Given the description of an element on the screen output the (x, y) to click on. 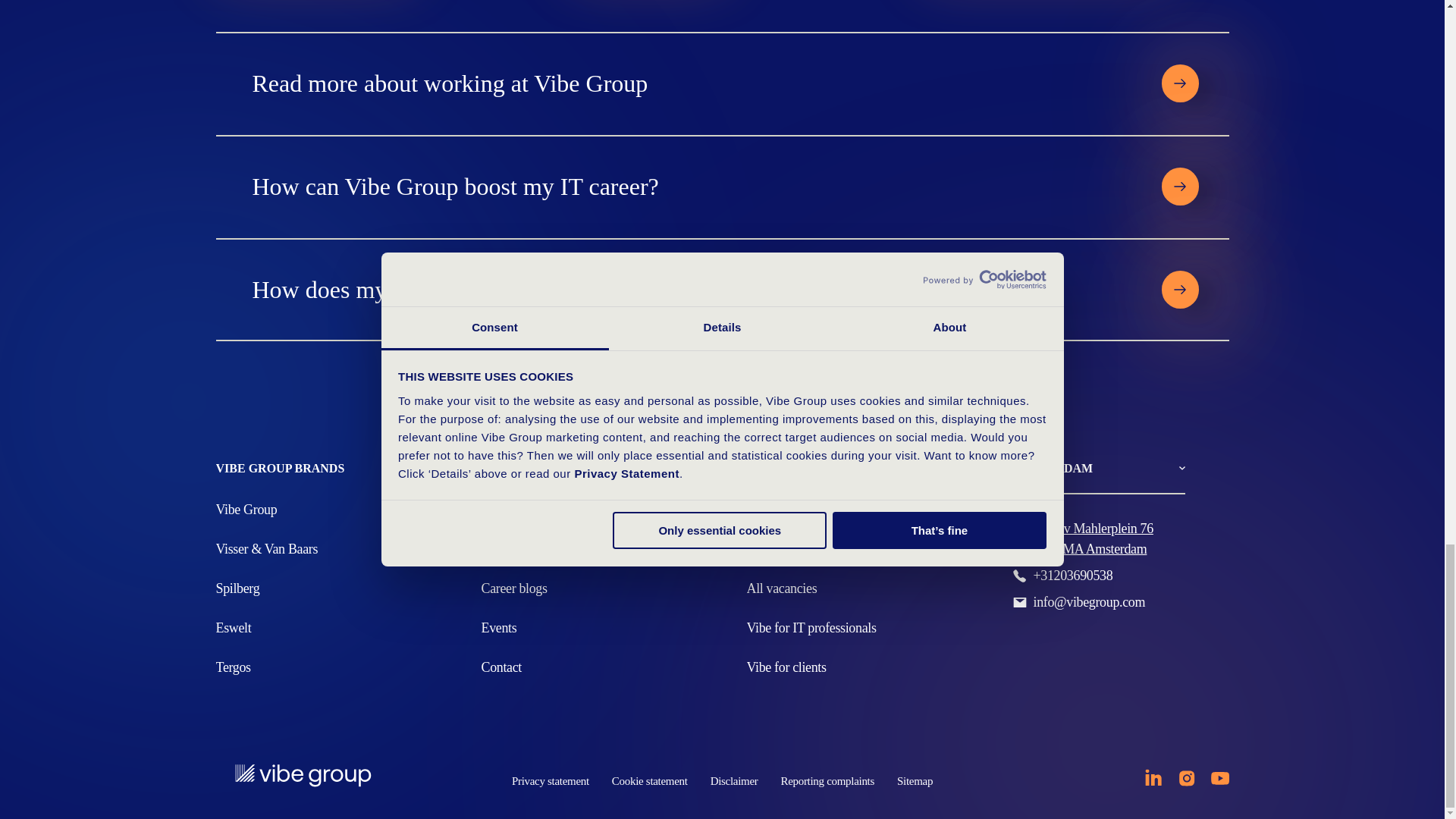
Read more about working at Vibe Group (688, 82)
